Given the description of an element on the screen output the (x, y) to click on. 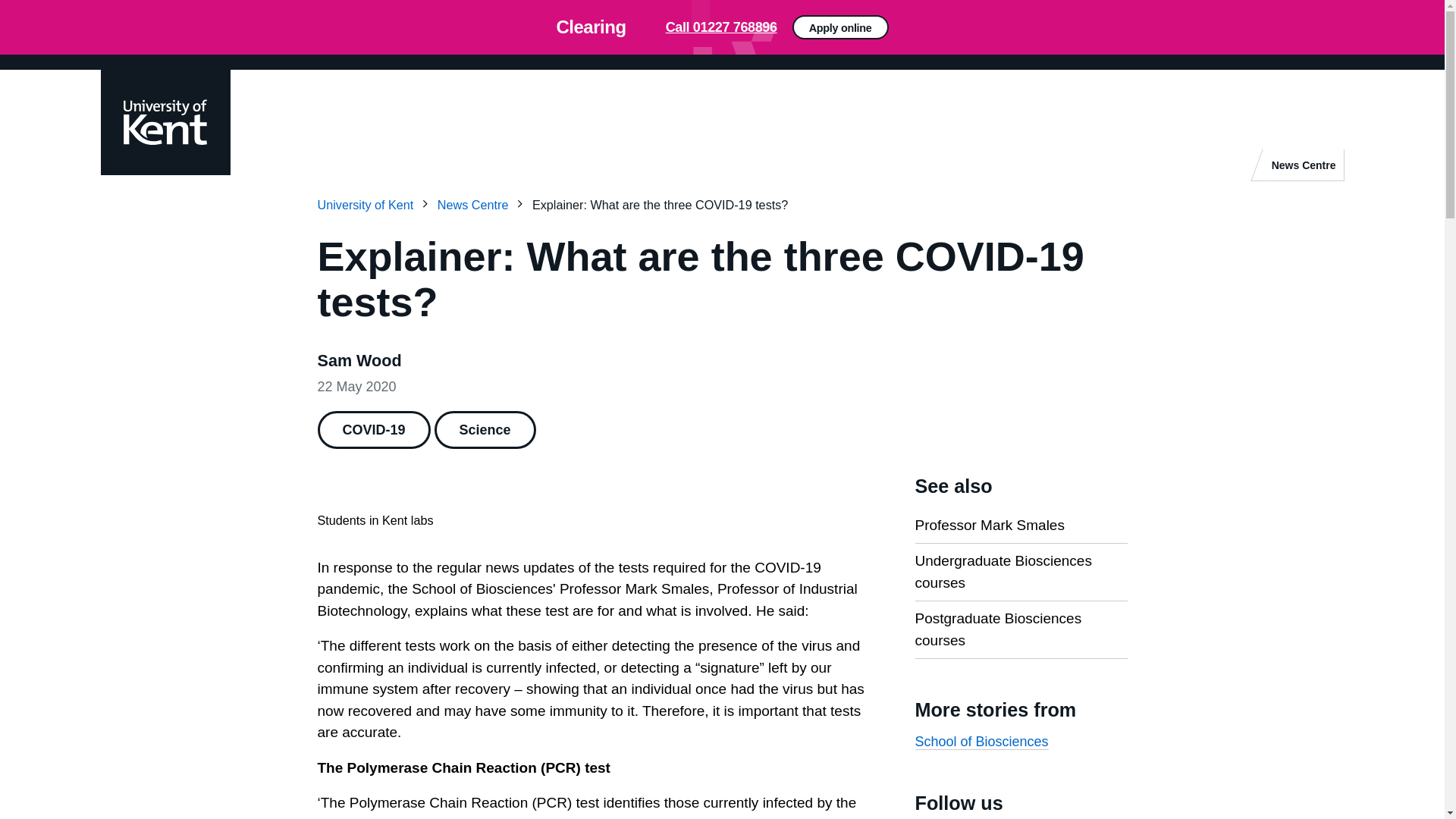
Undergraduate Biosciences courses (1002, 571)
design2 (721, 27)
University of Kent logo (164, 121)
Call 01227 768896 (721, 27)
Apply online (1050, 33)
Professor Mark Smales (989, 524)
University of Kent (375, 204)
COVID-19 (373, 429)
Postgraduate Biosciences courses (997, 629)
Science (484, 429)
News Centre (1303, 164)
School of Biosciences (981, 741)
News Centre (483, 204)
